Given the description of an element on the screen output the (x, y) to click on. 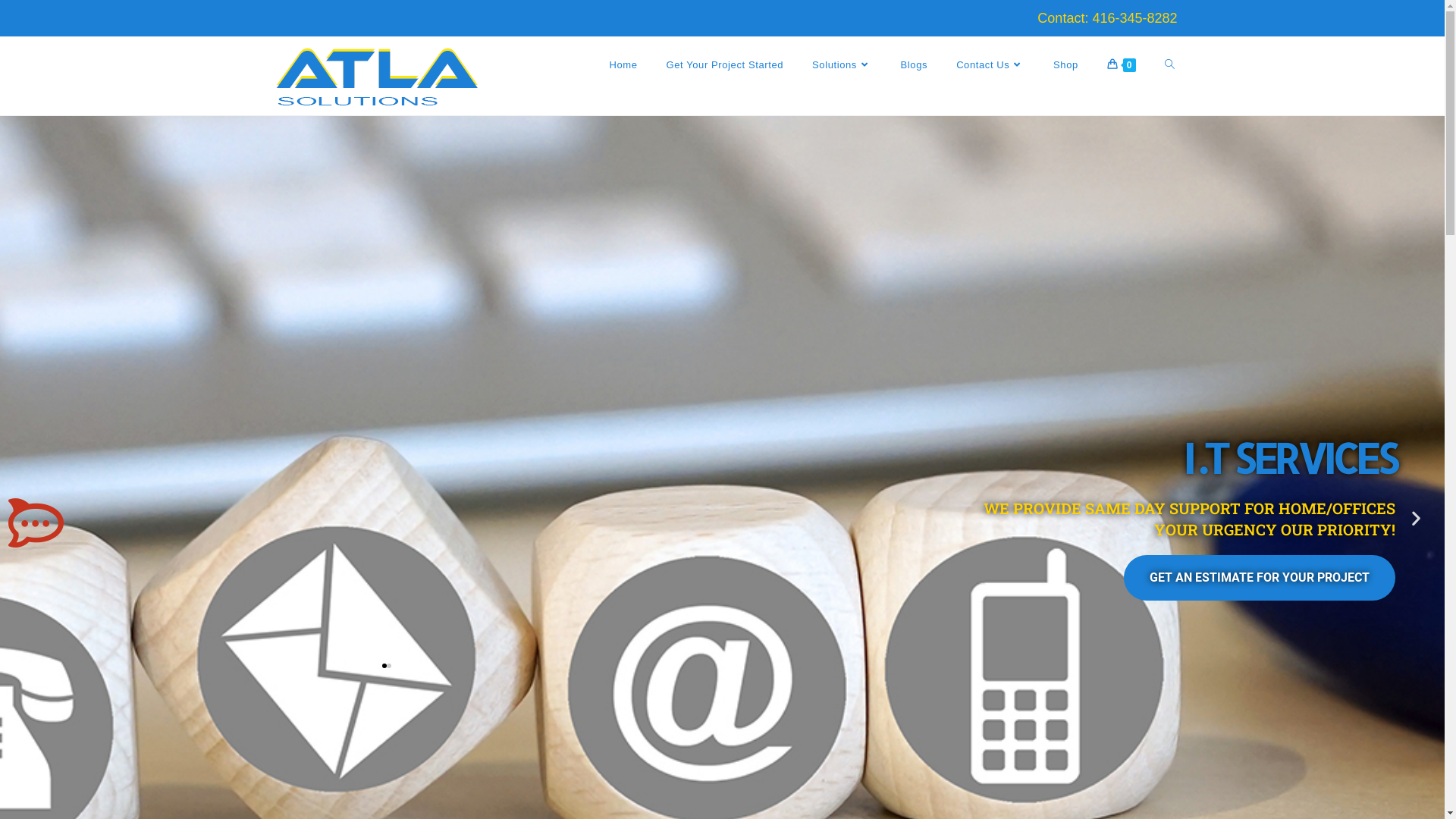
0 Element type: text (1121, 65)
Shop Element type: text (1065, 65)
Contact Us Element type: text (989, 65)
Get Your Project Started Element type: text (724, 65)
Solutions Element type: text (841, 65)
Blogs Element type: text (914, 65)
Home Element type: text (622, 65)
